Given the description of an element on the screen output the (x, y) to click on. 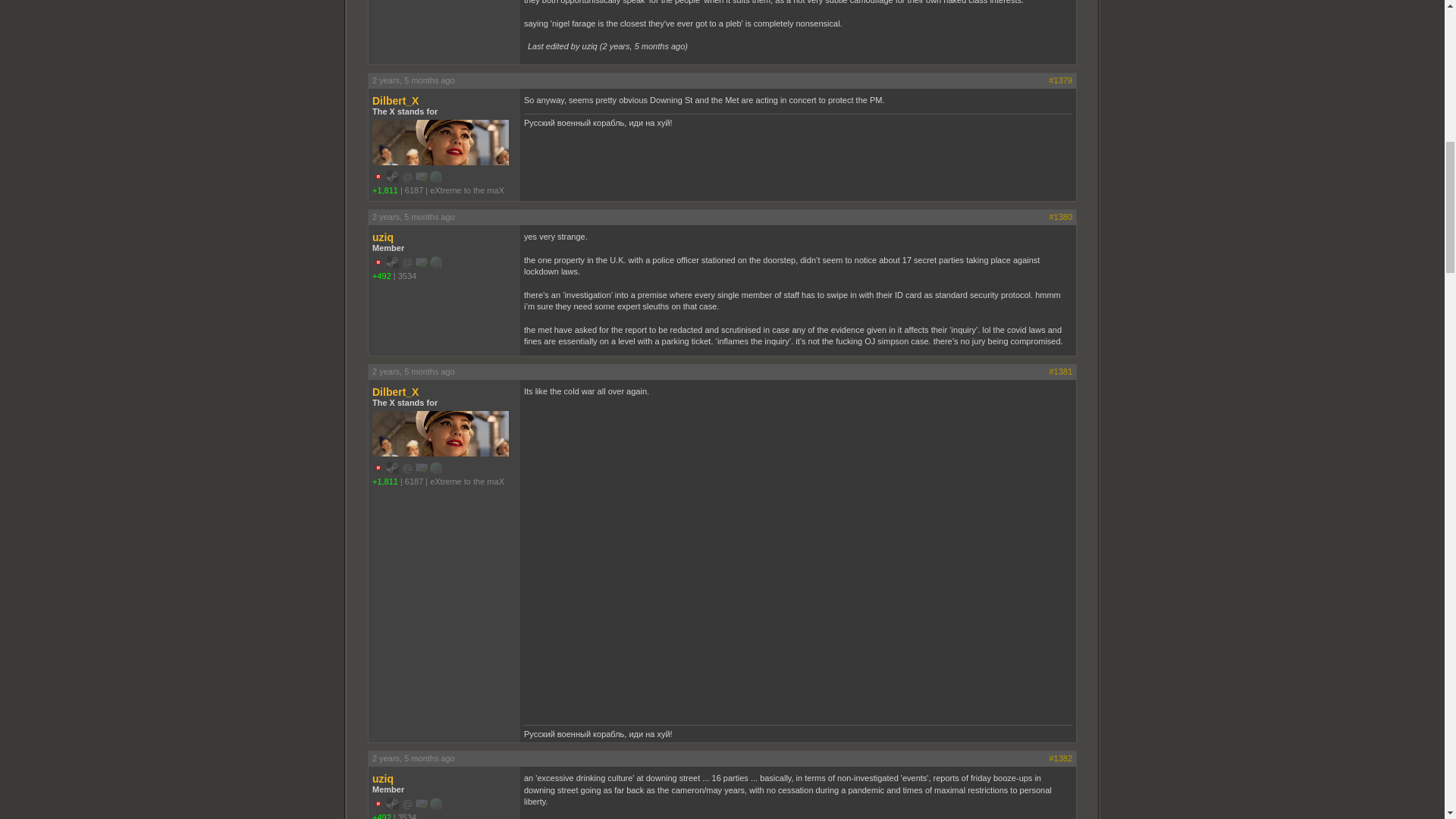
uziq (444, 778)
uziq (444, 236)
